Given the description of an element on the screen output the (x, y) to click on. 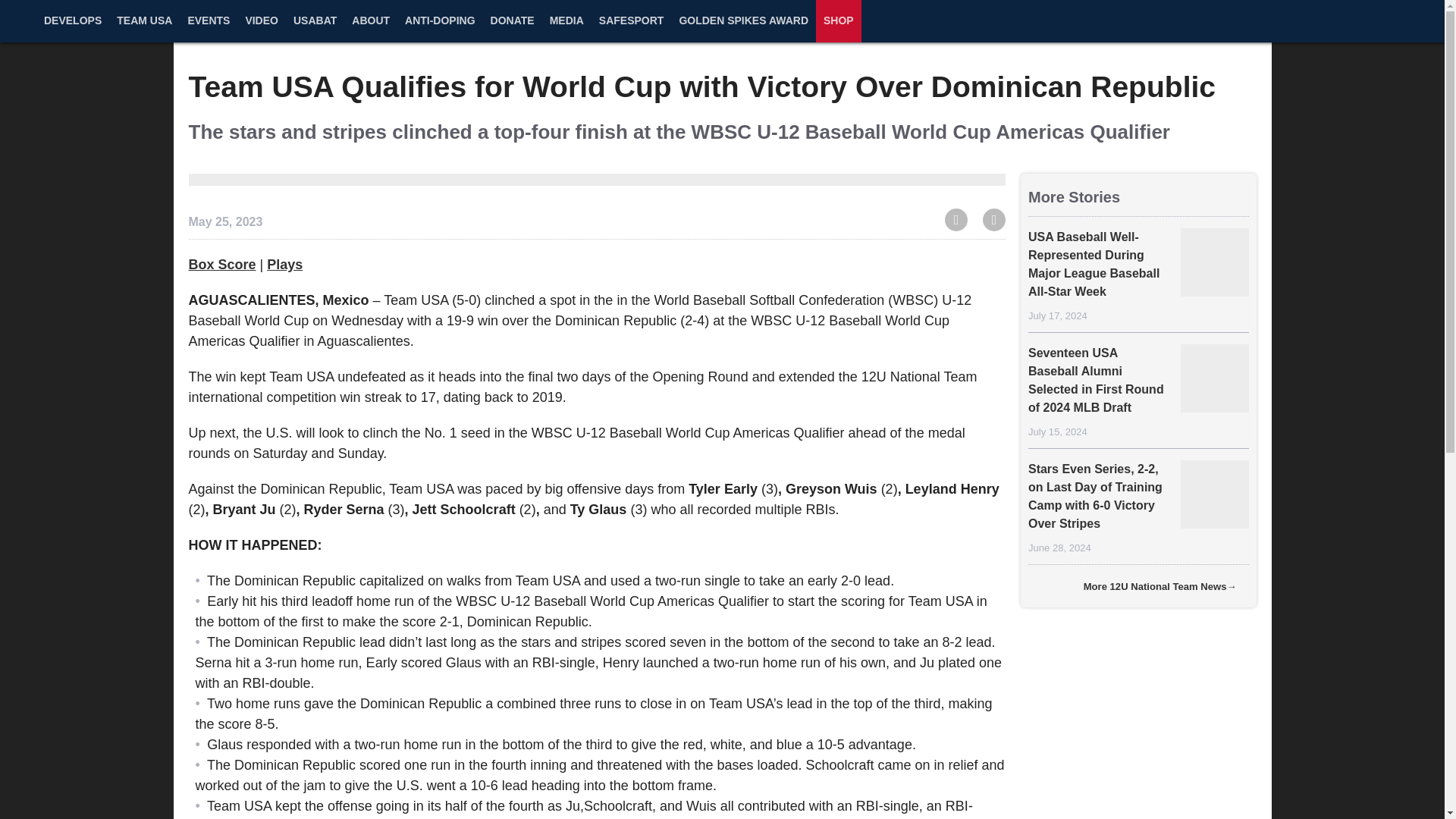
TEAM USA (144, 28)
DEVELOPS (72, 28)
EVENTS (208, 28)
